Given the description of an element on the screen output the (x, y) to click on. 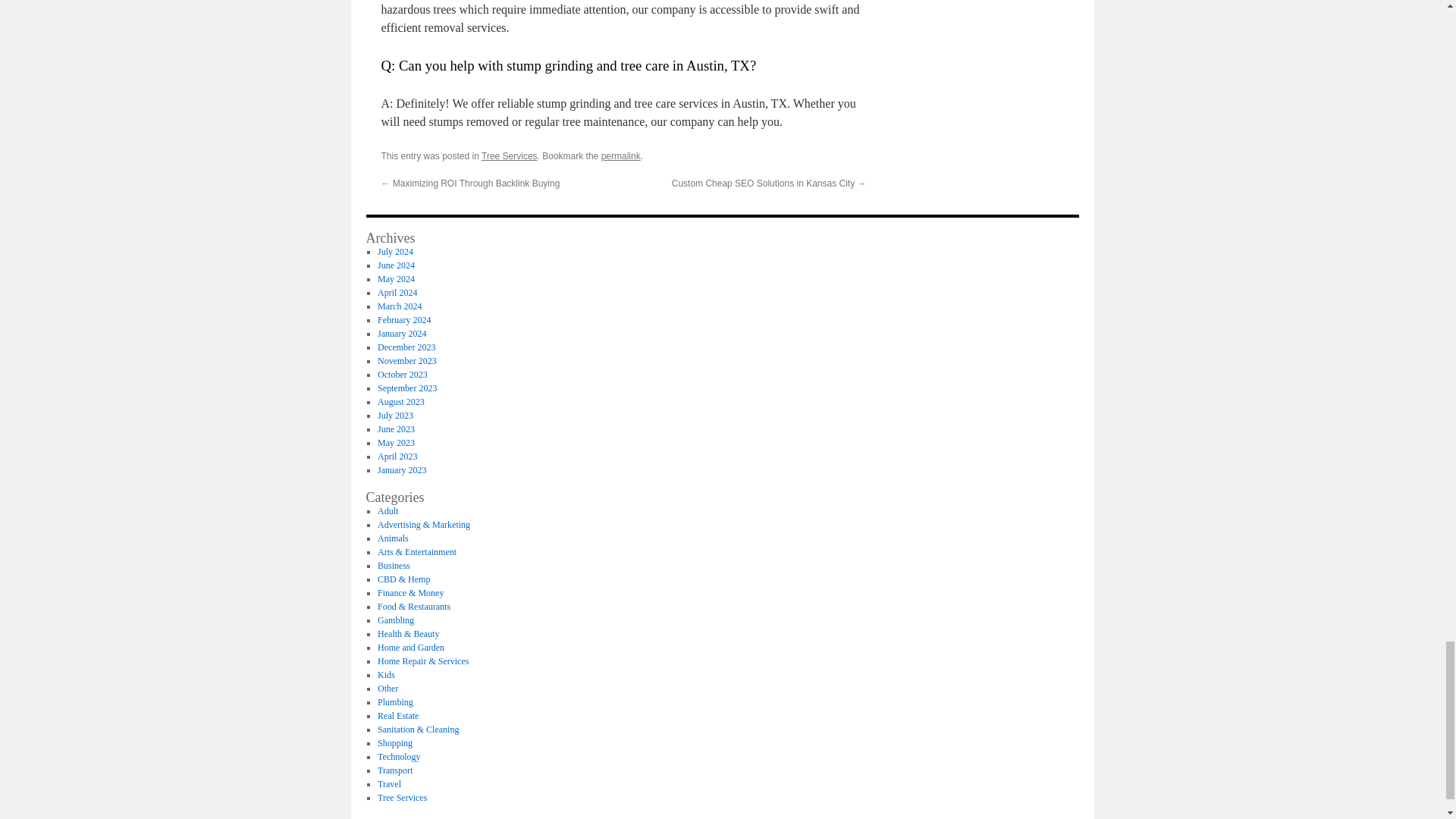
Tree Services (509, 155)
July 2024 (395, 251)
permalink (620, 155)
October 2023 (402, 374)
January 2023 (401, 470)
March 2024 (399, 306)
May 2023 (395, 442)
January 2024 (401, 333)
November 2023 (406, 360)
April 2024 (396, 292)
December 2023 (406, 347)
June 2024 (395, 265)
August 2023 (401, 401)
Adult (387, 511)
